Given the description of an element on the screen output the (x, y) to click on. 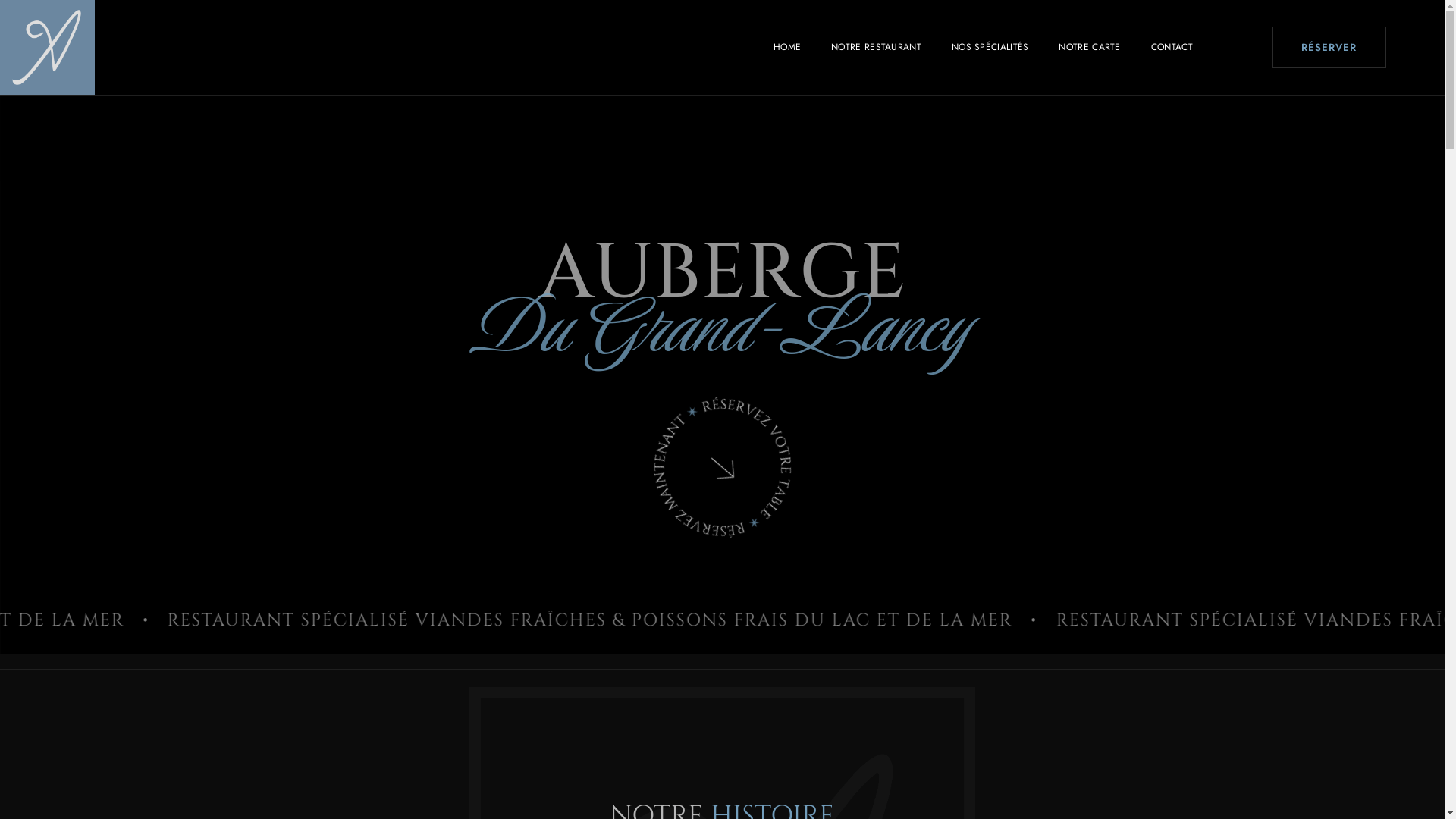
CONTACT Element type: text (1171, 46)
NOTRE CARTE Element type: text (1089, 46)
HOME Element type: text (786, 46)
NOTRE RESTAURANT Element type: text (875, 46)
